Given the description of an element on the screen output the (x, y) to click on. 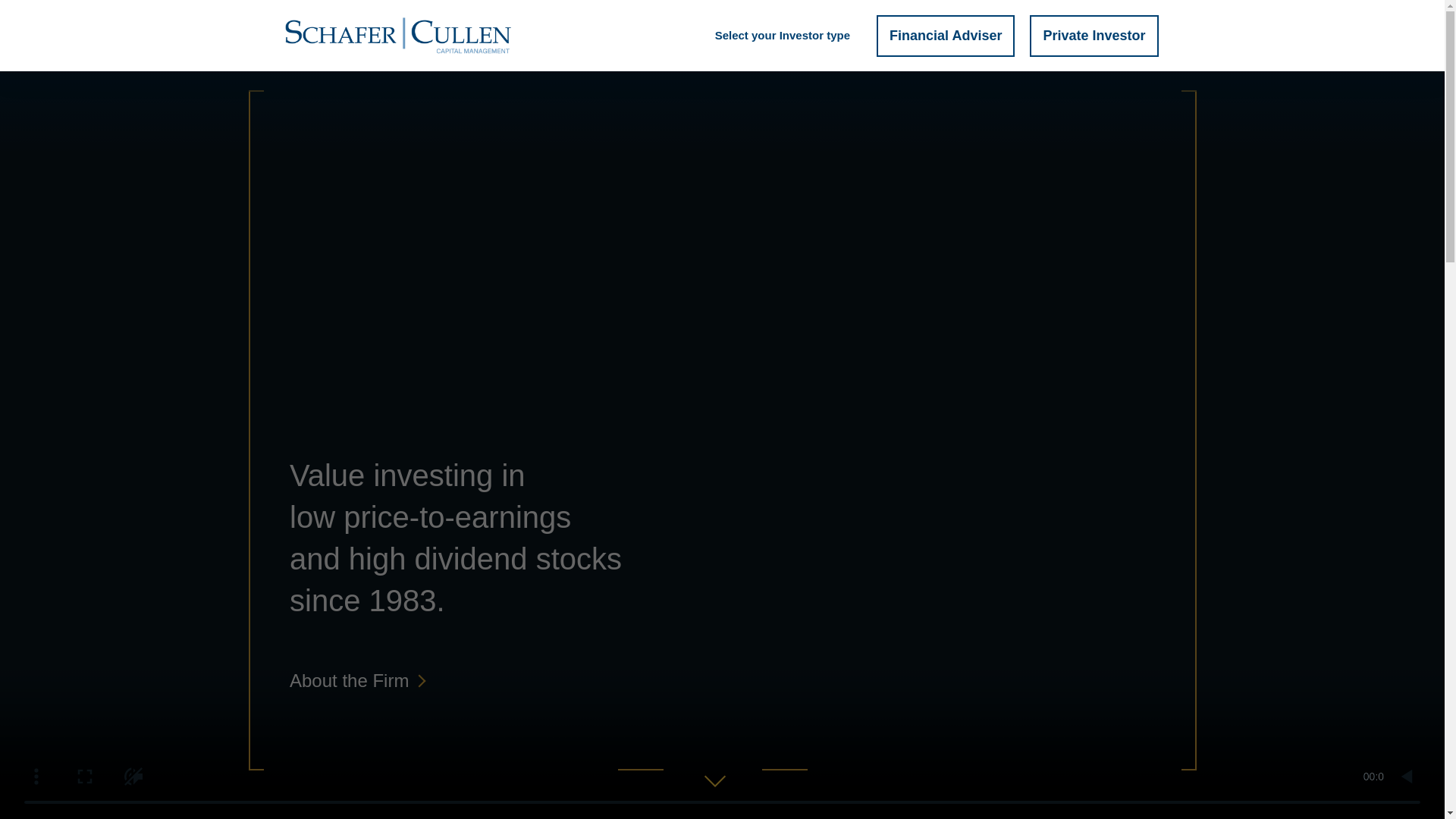
MARKET INSIGHTS (1069, 51)
Private Investor (1093, 29)
U.S. ADVISER (1157, 20)
CONTACT (1168, 51)
STRATEGIES (901, 51)
About the Firm (356, 680)
LOGIN (1093, 20)
FIRM (832, 51)
INVEST (978, 51)
HOME (782, 51)
Home (370, 57)
Financial Adviser (945, 28)
